Given the description of an element on the screen output the (x, y) to click on. 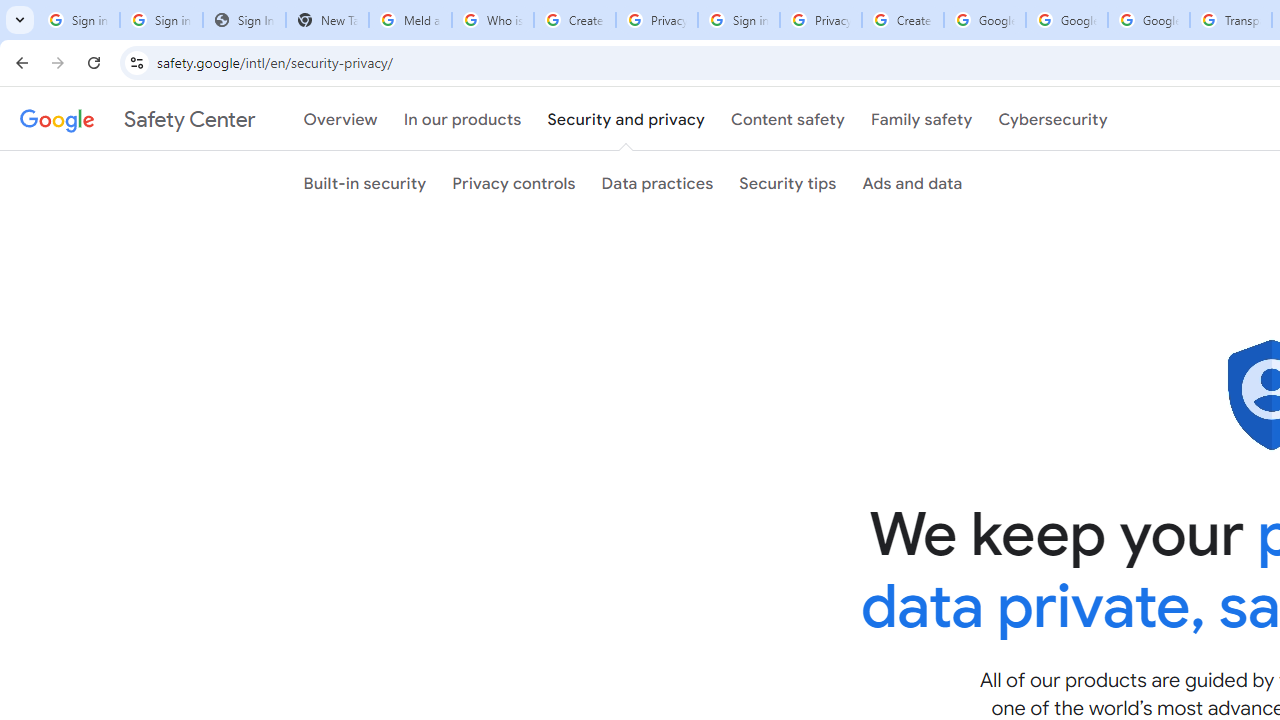
Cybersecurity (1053, 119)
Create your Google Account (574, 20)
